Given the description of an element on the screen output the (x, y) to click on. 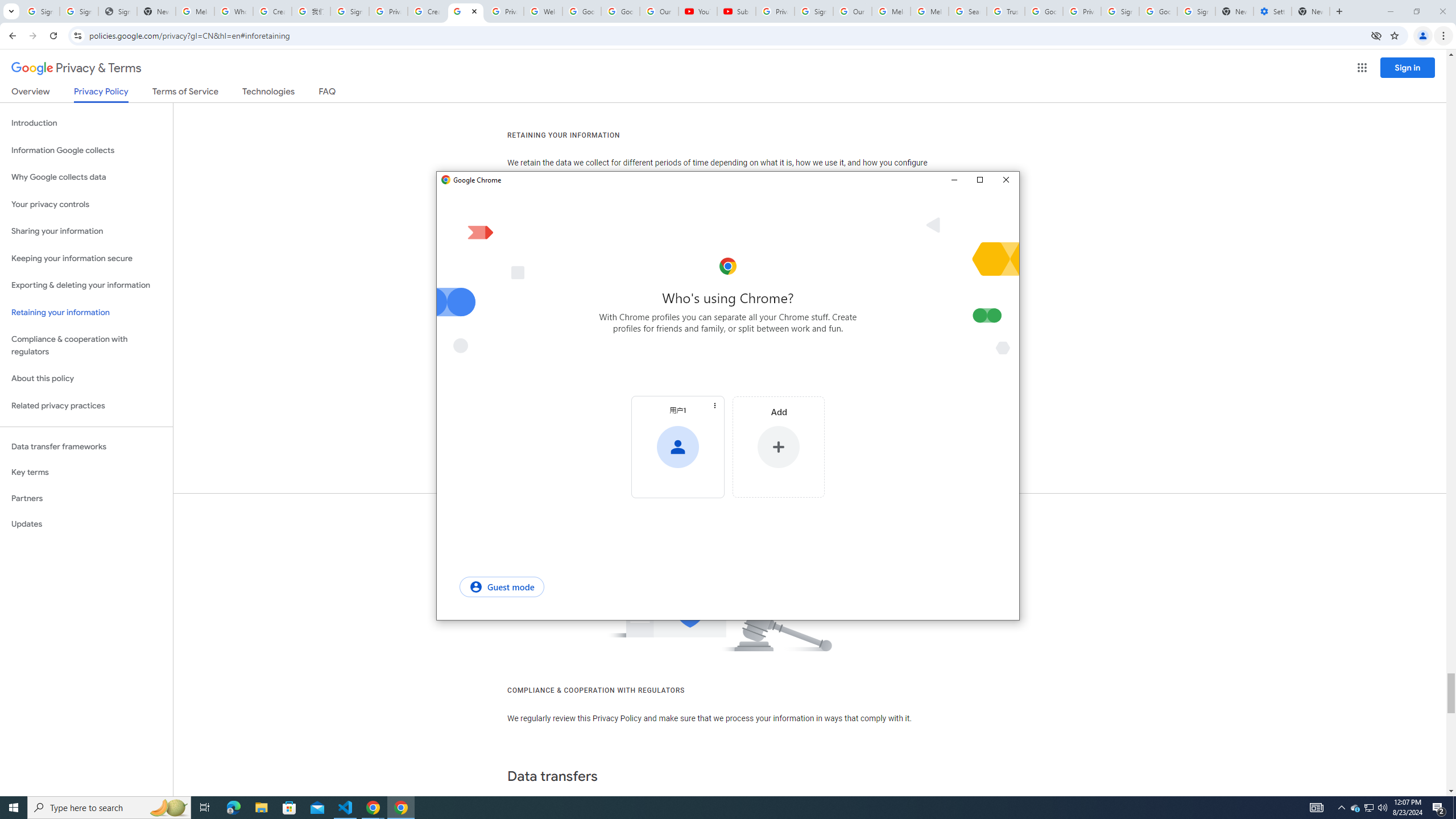
Running applications (717, 807)
Start (13, 807)
Google Ads - Sign in (1043, 11)
Sign in - Google Accounts (1120, 11)
File Explorer (261, 807)
About this policy (86, 379)
